Given the description of an element on the screen output the (x, y) to click on. 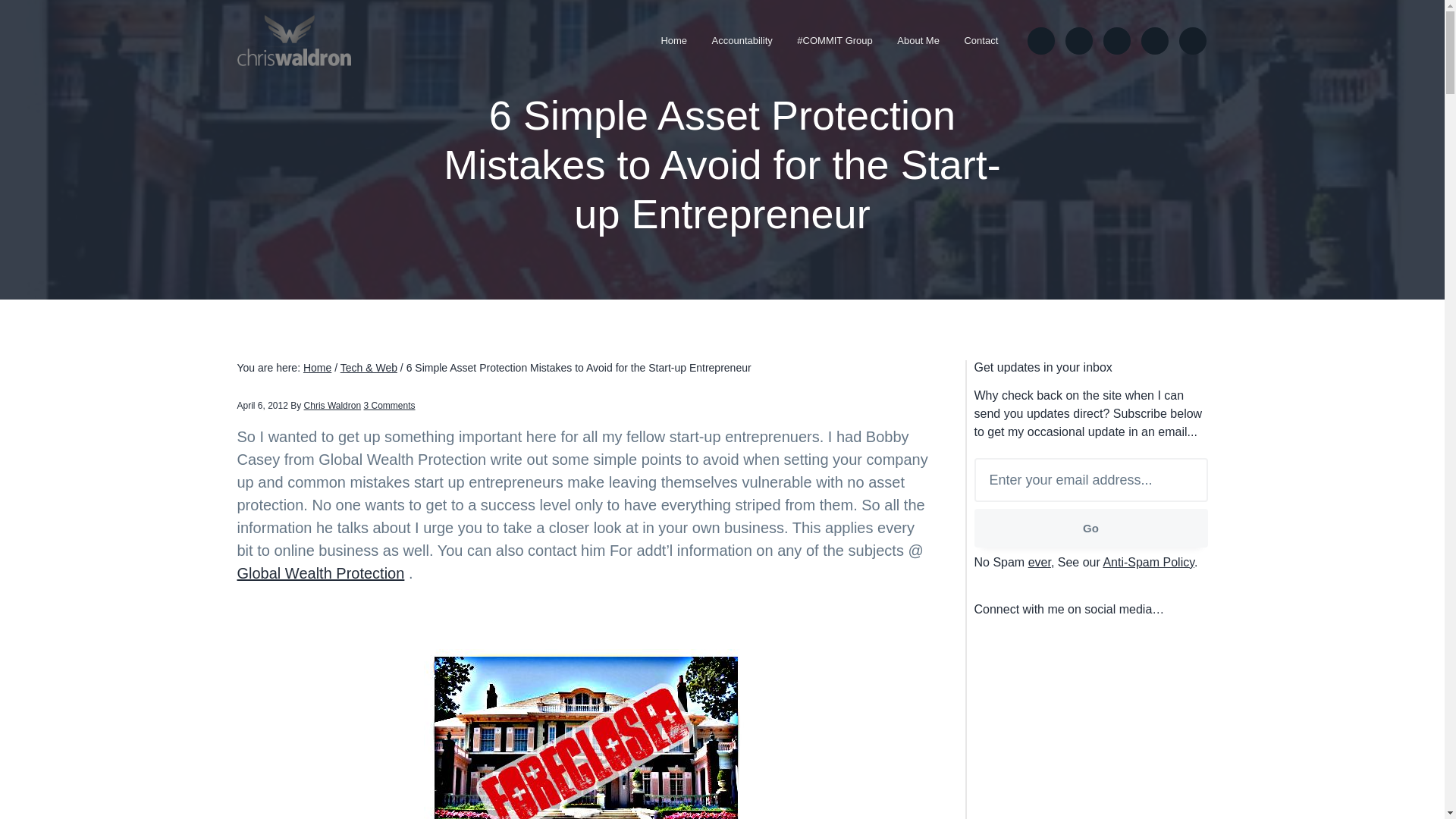
Global Wealth Protection (319, 573)
Home (316, 367)
About Me (918, 40)
Chris Waldron (332, 405)
3 Comments (388, 405)
Home (672, 40)
About Me (918, 40)
Go (1090, 527)
asset-protection-gone-wrong (585, 734)
Chris Waldron (279, 72)
Anti-Spam Policy (1147, 562)
Go (1090, 527)
Home (672, 40)
Contact Me (981, 40)
Contact (981, 40)
